Given the description of an element on the screen output the (x, y) to click on. 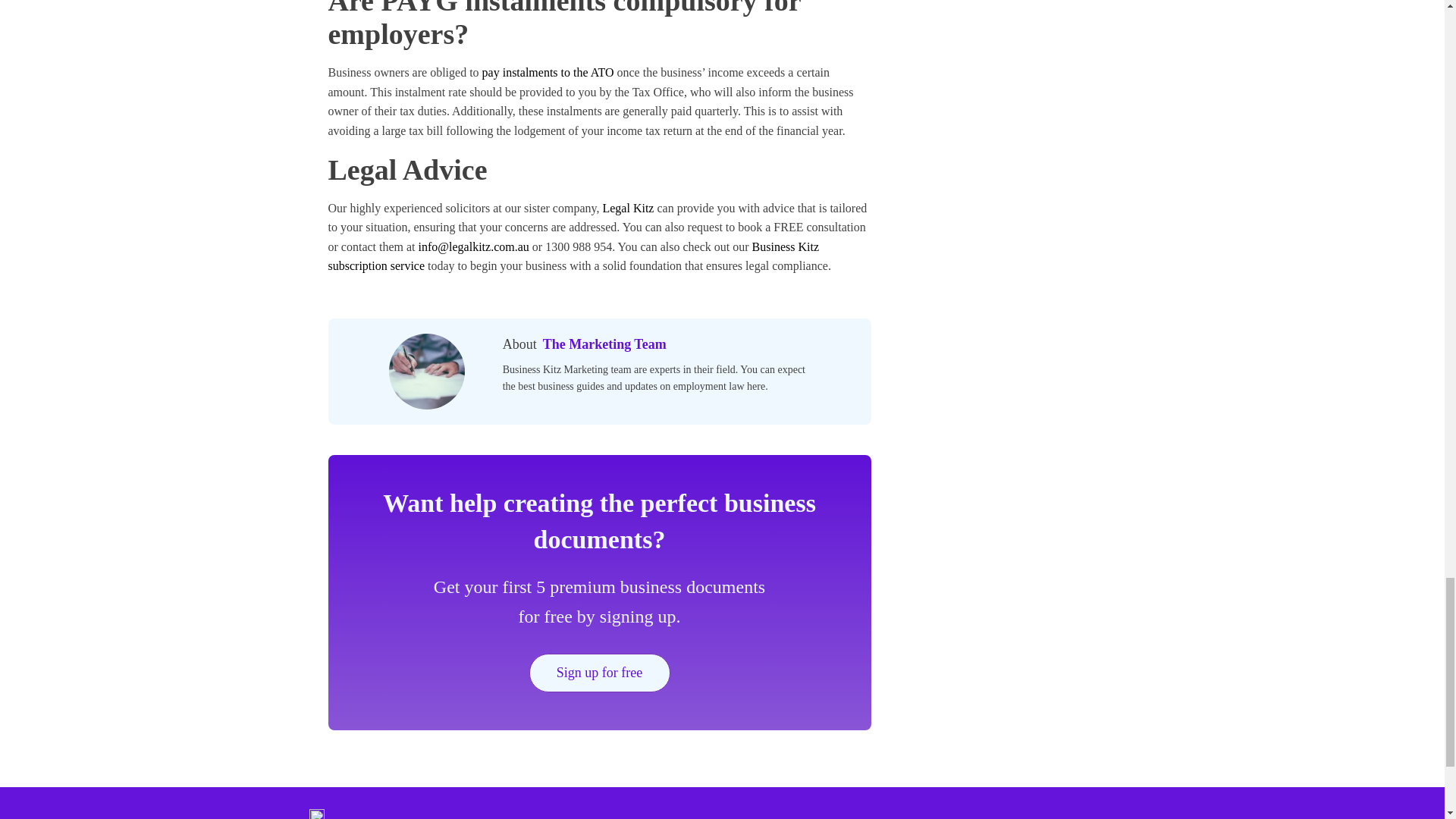
Legal Kitz (627, 207)
pay instalments to the ATO (547, 72)
Sign up for free (599, 672)
Business Kitz subscription service (572, 256)
